Given the description of an element on the screen output the (x, y) to click on. 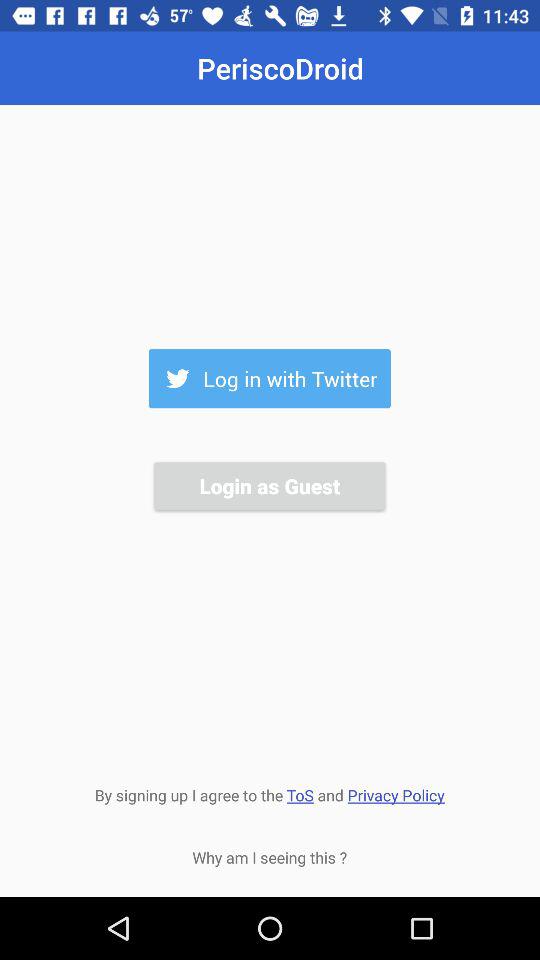
jump to the why am i item (269, 857)
